Given the description of an element on the screen output the (x, y) to click on. 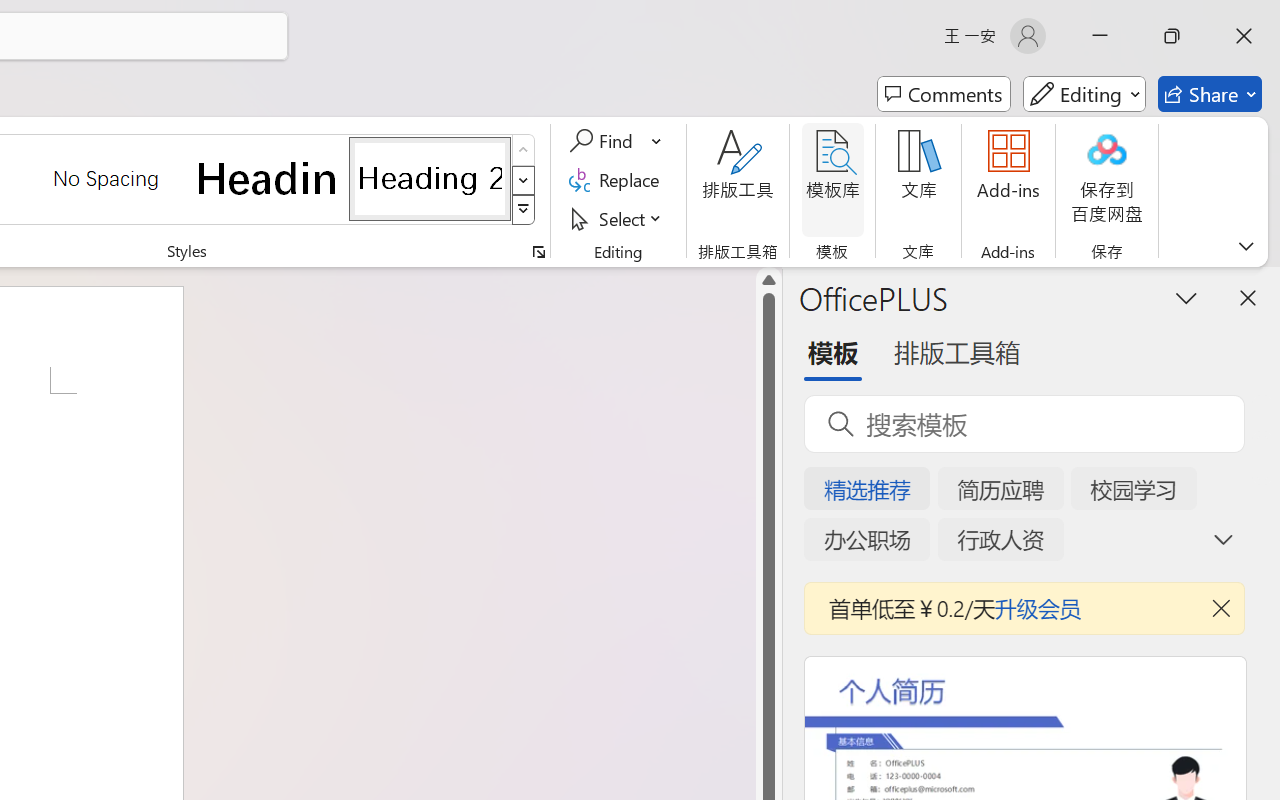
Share (1210, 94)
Styles (523, 209)
More Options (657, 141)
Class: NetUIImage (523, 210)
Row up (523, 150)
